Given the description of an element on the screen output the (x, y) to click on. 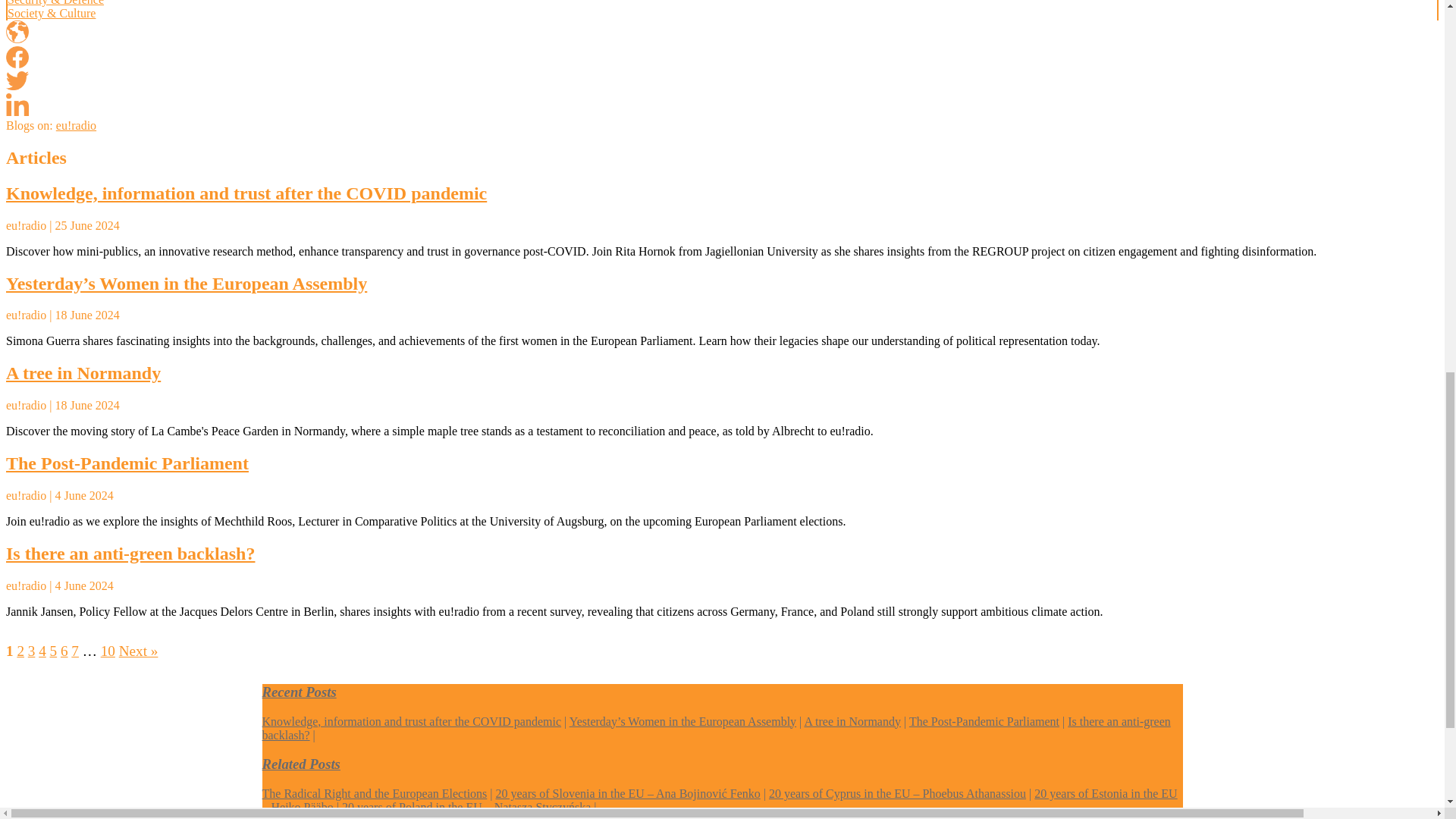
The Radical Right and the European Elections (374, 793)
